Given the description of an element on the screen output the (x, y) to click on. 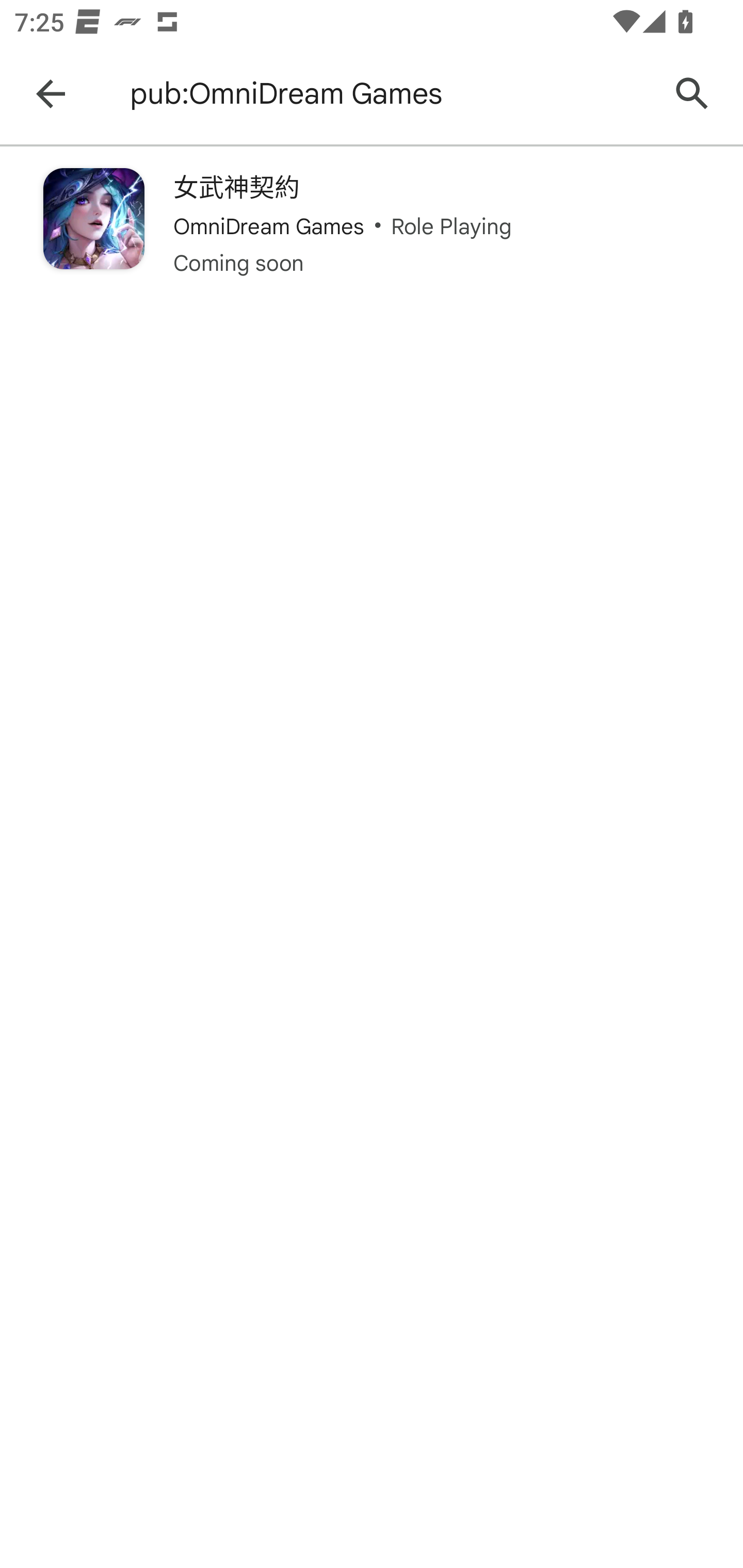
pub:OmniDream Games (389, 93)
Navigate up (50, 93)
Search Google Play (692, 93)
女武神契約
OmniDream Games
Role Playing
Coming soon
 (371, 223)
